Given the description of an element on the screen output the (x, y) to click on. 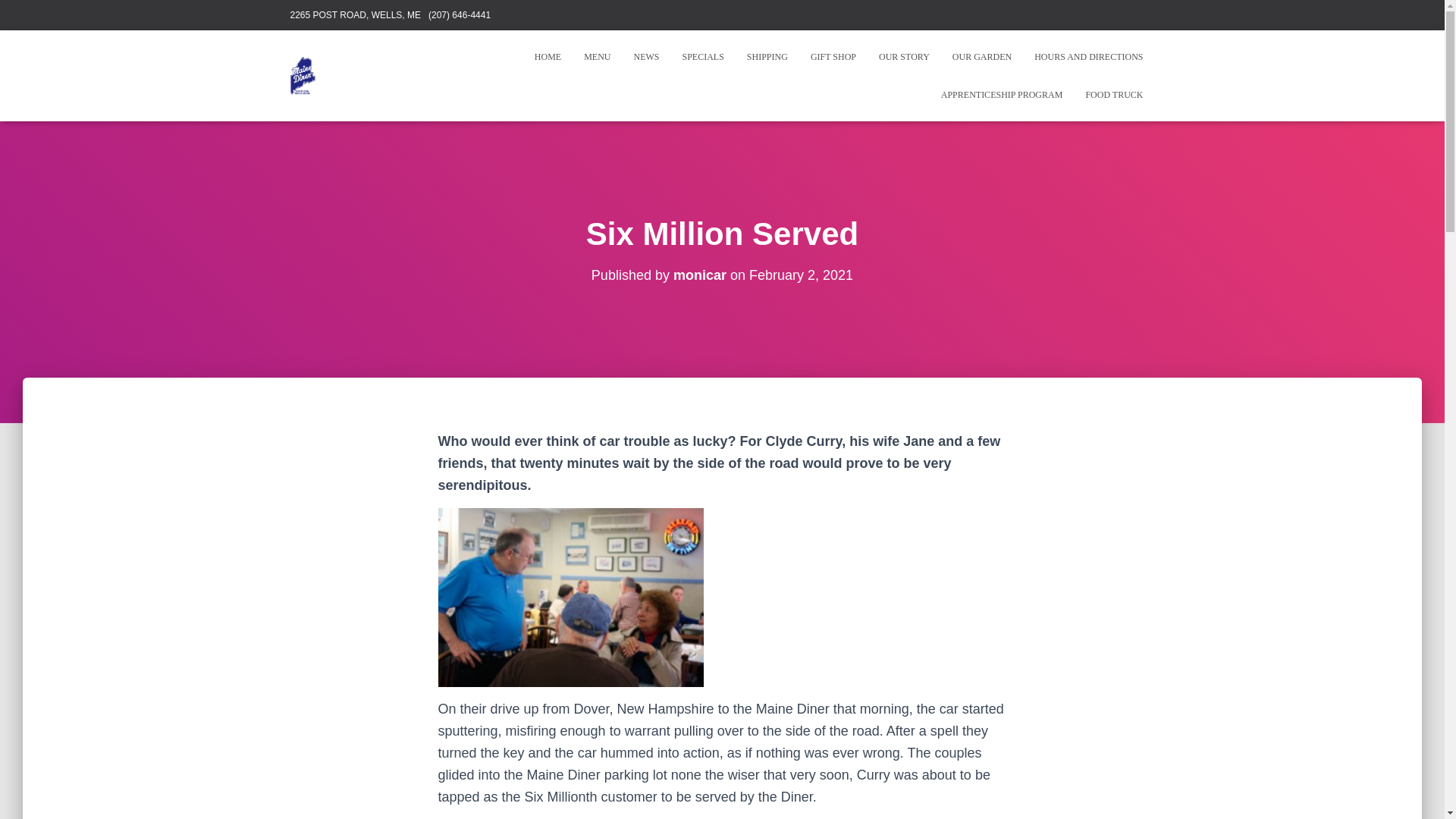
Our Story (903, 56)
Food Truck (1114, 94)
Maine Diner (302, 75)
OUR STORY (903, 56)
APPRENTICESHIP PROGRAM (1002, 94)
OUR GARDEN (981, 56)
HOURS AND DIRECTIONS (1088, 56)
monicar (699, 274)
Specials (702, 56)
NEWS (645, 56)
Home (547, 56)
Gift Shop (833, 56)
Apprenticeship Program (1002, 94)
News (645, 56)
GIFT SHOP (833, 56)
